Given the description of an element on the screen output the (x, y) to click on. 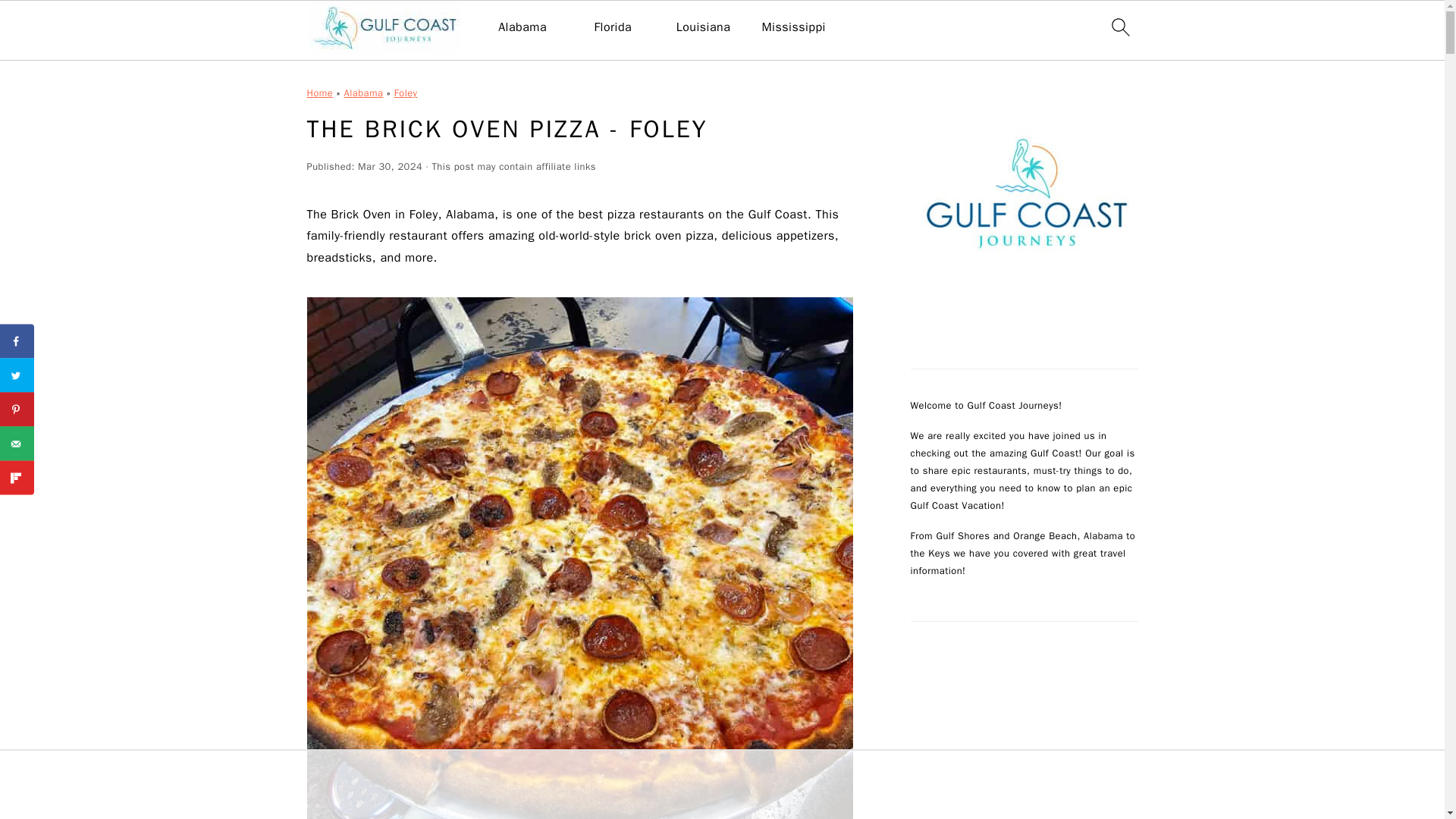
Share on Flipboard (16, 478)
Send over email (16, 442)
Alabama (522, 27)
Share on Twitter (16, 374)
search icon (1119, 26)
Louisiana (703, 27)
Home (319, 92)
Foley (405, 92)
Alabama (363, 92)
Share on Facebook (16, 341)
Florida (612, 27)
Save to Pinterest (16, 409)
Mississippi (793, 27)
